Given the description of an element on the screen output the (x, y) to click on. 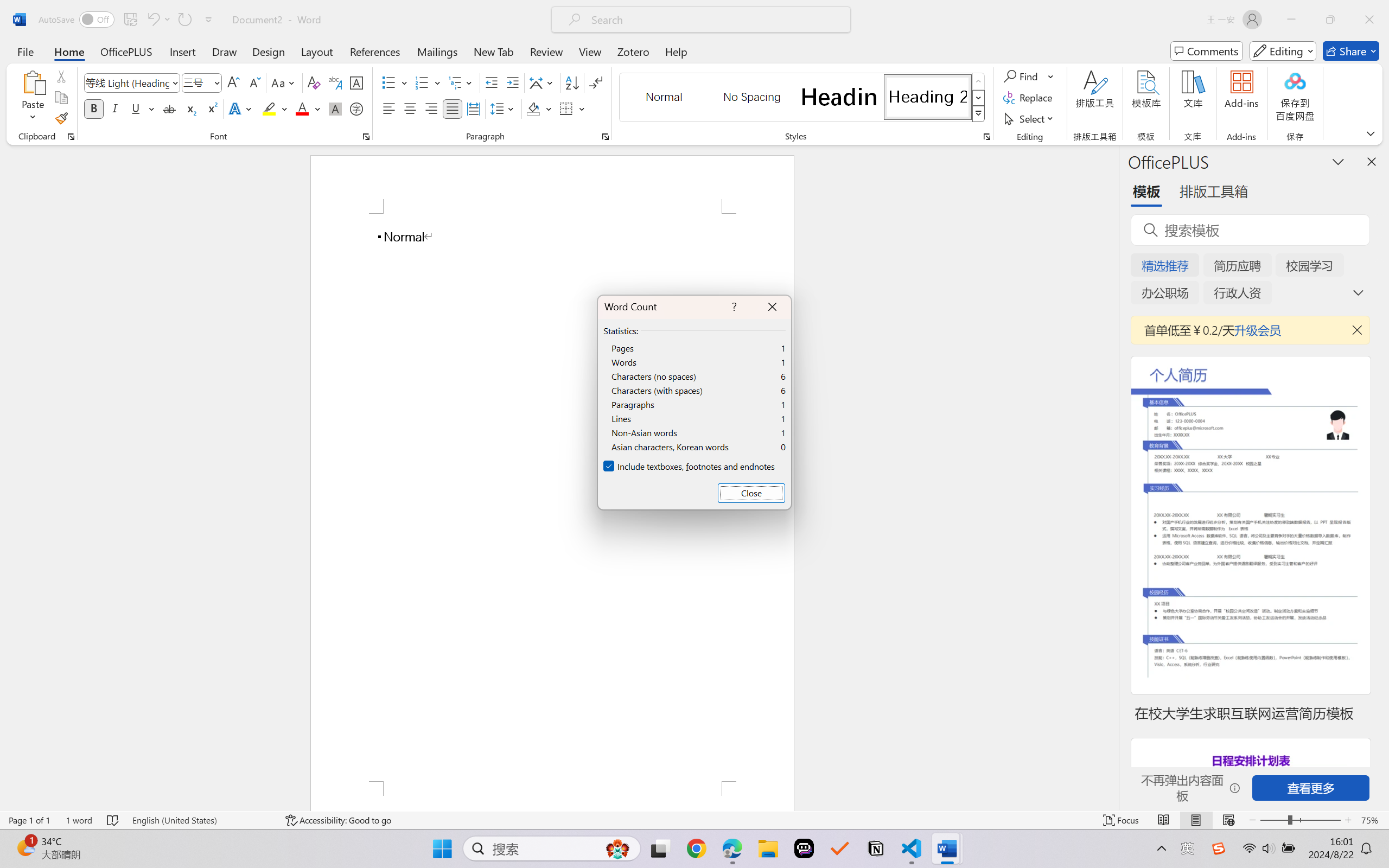
Shading (539, 108)
Print Layout (1196, 819)
Word Count 1 word (78, 819)
Ribbon Display Options (1370, 132)
Accessibility Checker Accessibility: Good to go (338, 819)
Zoom (1300, 819)
Character Border (356, 82)
Paste (33, 81)
Review (546, 51)
Shrink Font (253, 82)
Shading RGB(0, 0, 0) (533, 108)
